Given the description of an element on the screen output the (x, y) to click on. 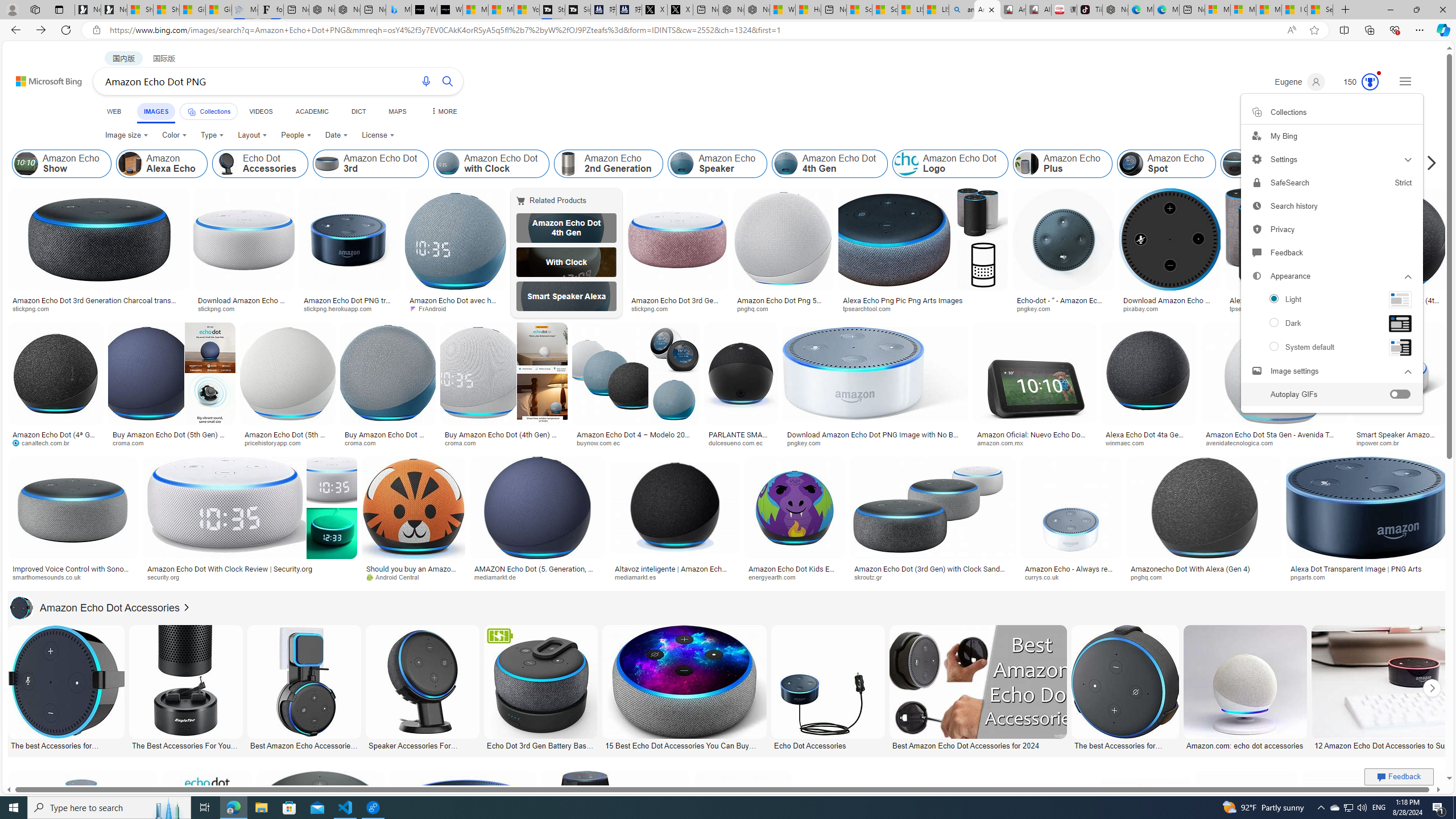
Type (212, 135)
Alexa Dot Transparent Image | PNG Artspngarts.comSave (1366, 521)
pixabay.com (1168, 308)
winmaec.com (1148, 442)
stickpng.com (677, 308)
winmaec.com (1128, 442)
Amazon Echo Dot PNG transparente - StickPNG (349, 303)
pngarts.com (1366, 576)
